Given the description of an element on the screen output the (x, y) to click on. 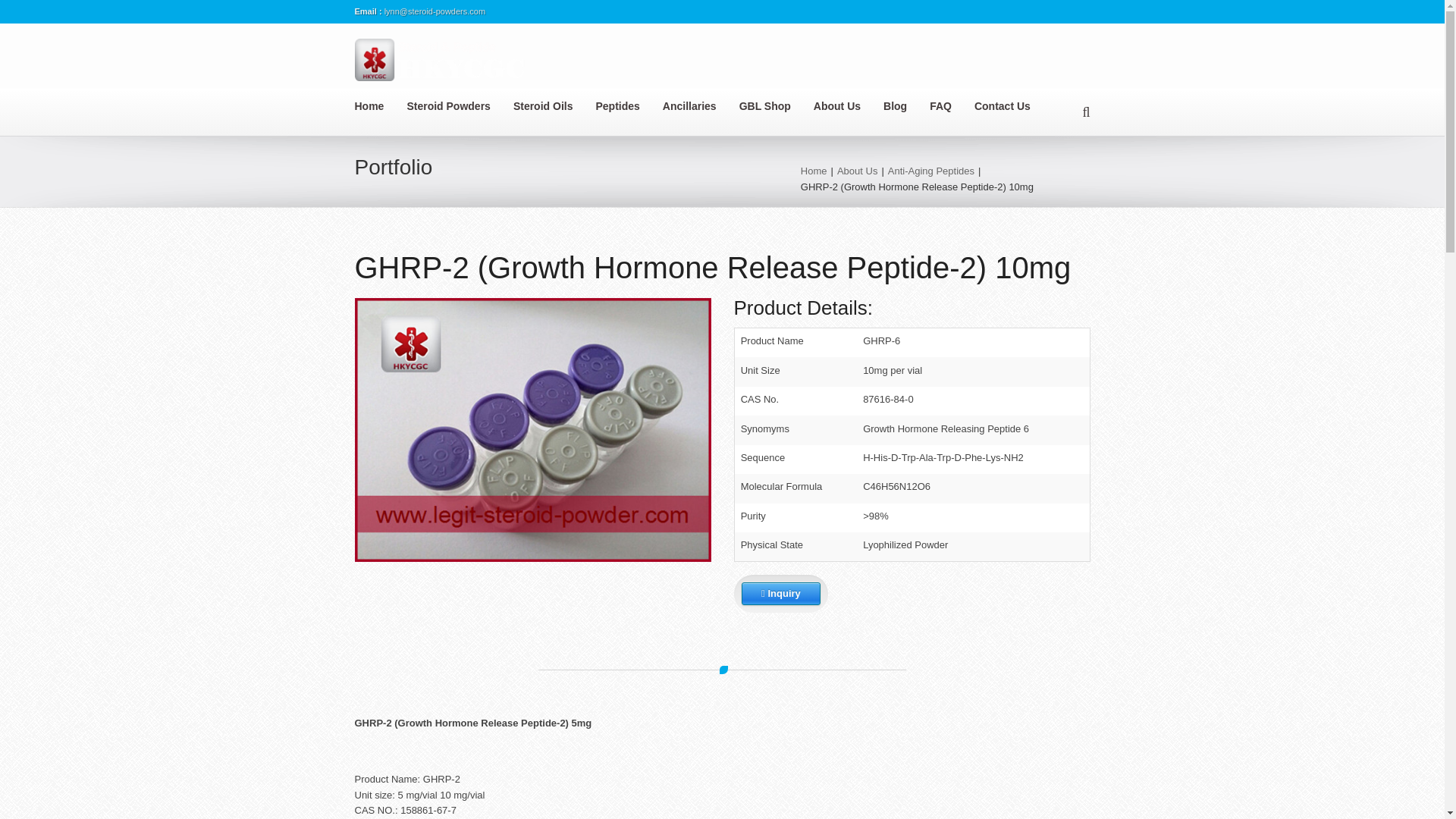
Steroid Powders (459, 106)
Home (381, 106)
Steroid Oils (554, 106)
Peptides (628, 106)
Ancillaries (700, 106)
